Given the description of an element on the screen output the (x, y) to click on. 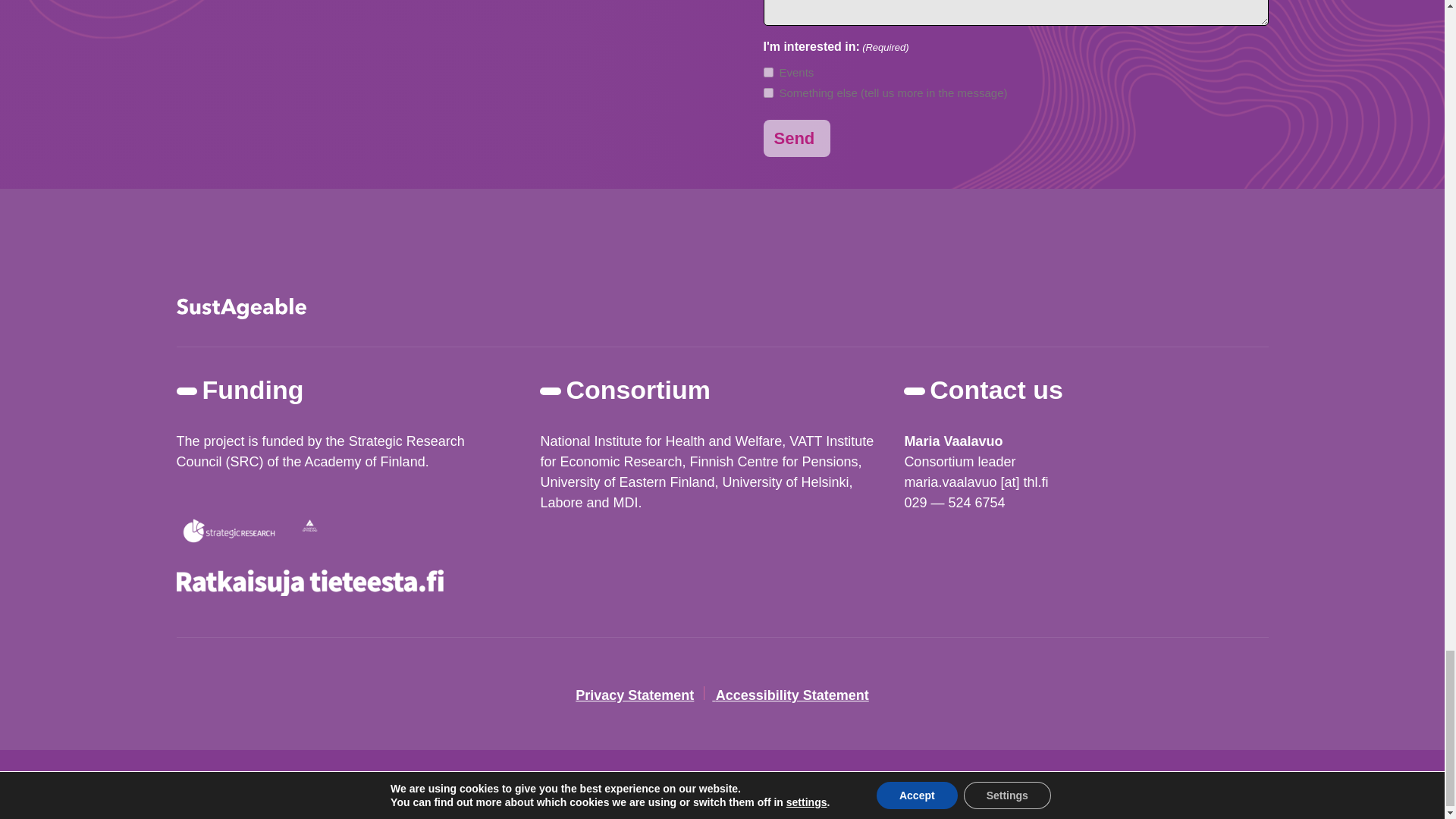
Something else (767, 92)
Send (795, 138)
Events (767, 71)
